Given the description of an element on the screen output the (x, y) to click on. 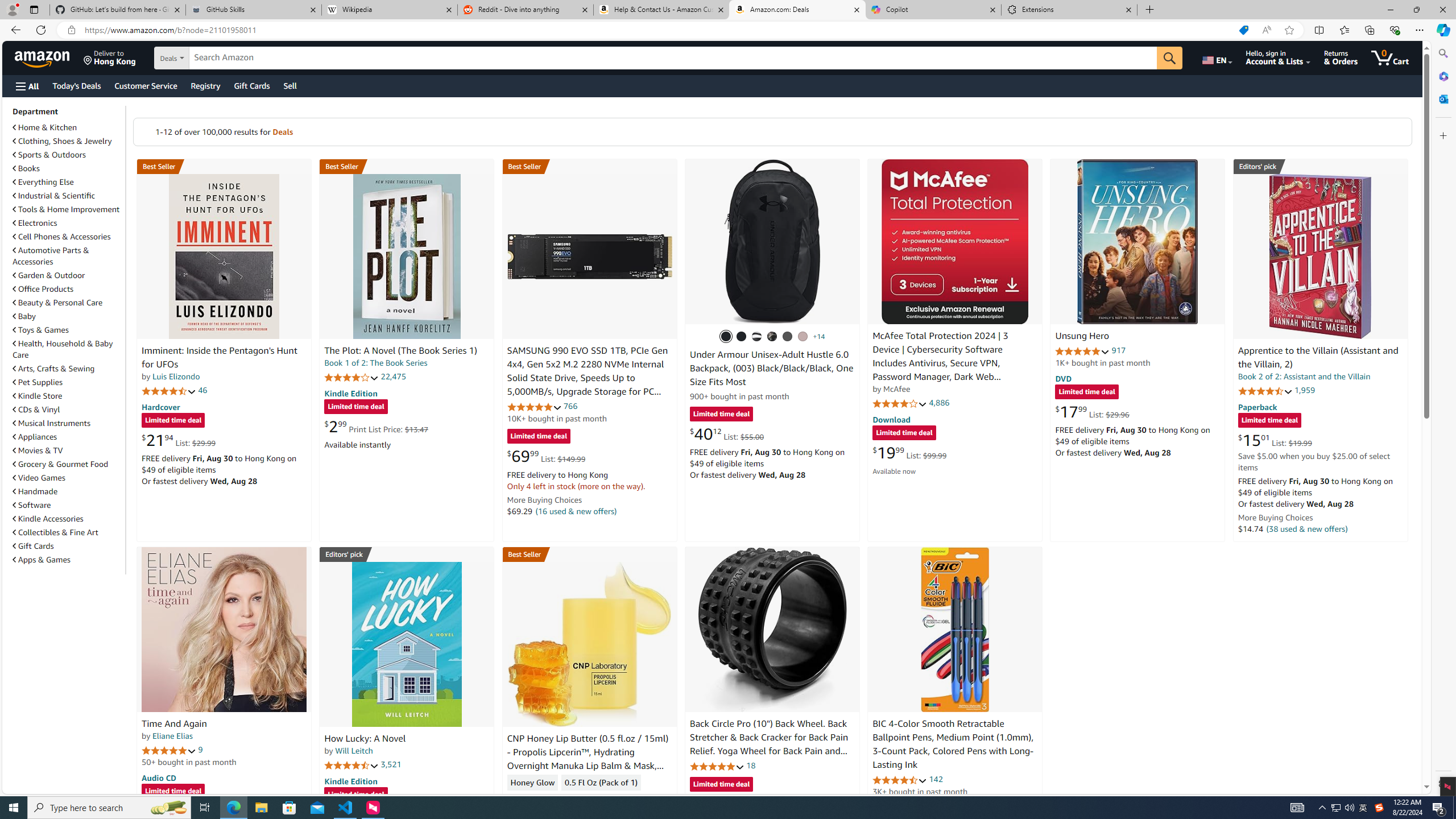
Extensions (1068, 9)
(16 used & new offers) (576, 511)
The Plot: A Novel (The Book Series 1) (406, 256)
Arts, Crafts & Sewing (53, 368)
Software (31, 504)
Imminent: Inside the Pentagon's Hunt for UFOs (219, 358)
Garden & Outdoor (49, 275)
$40.12 List: $55.00 (726, 433)
Open Menu (26, 86)
Wikipedia (390, 9)
4.2 out of 5 stars (352, 377)
